Given the description of an element on the screen output the (x, y) to click on. 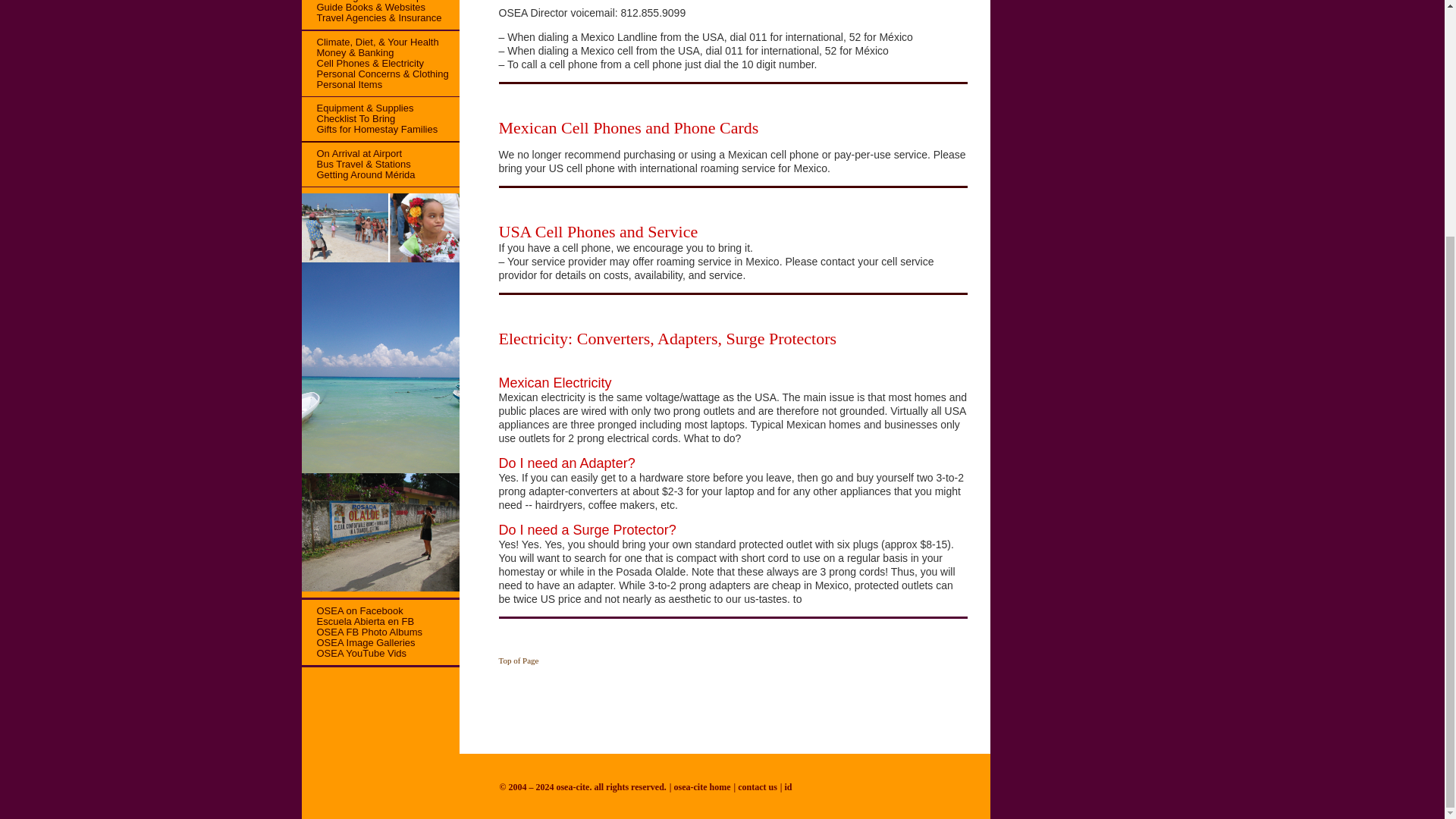
OSEA YouTube Vids (354, 653)
Personal Items (341, 84)
Escuela Abierta en FB (357, 621)
OSEA FB Photo Albums (361, 632)
OSEA Image Galleries (357, 642)
OSEA on Facebook (352, 610)
Gifts for Homestay Families (369, 129)
Checklist To Bring (348, 118)
On Arrival at Airport (352, 153)
